Given the description of an element on the screen output the (x, y) to click on. 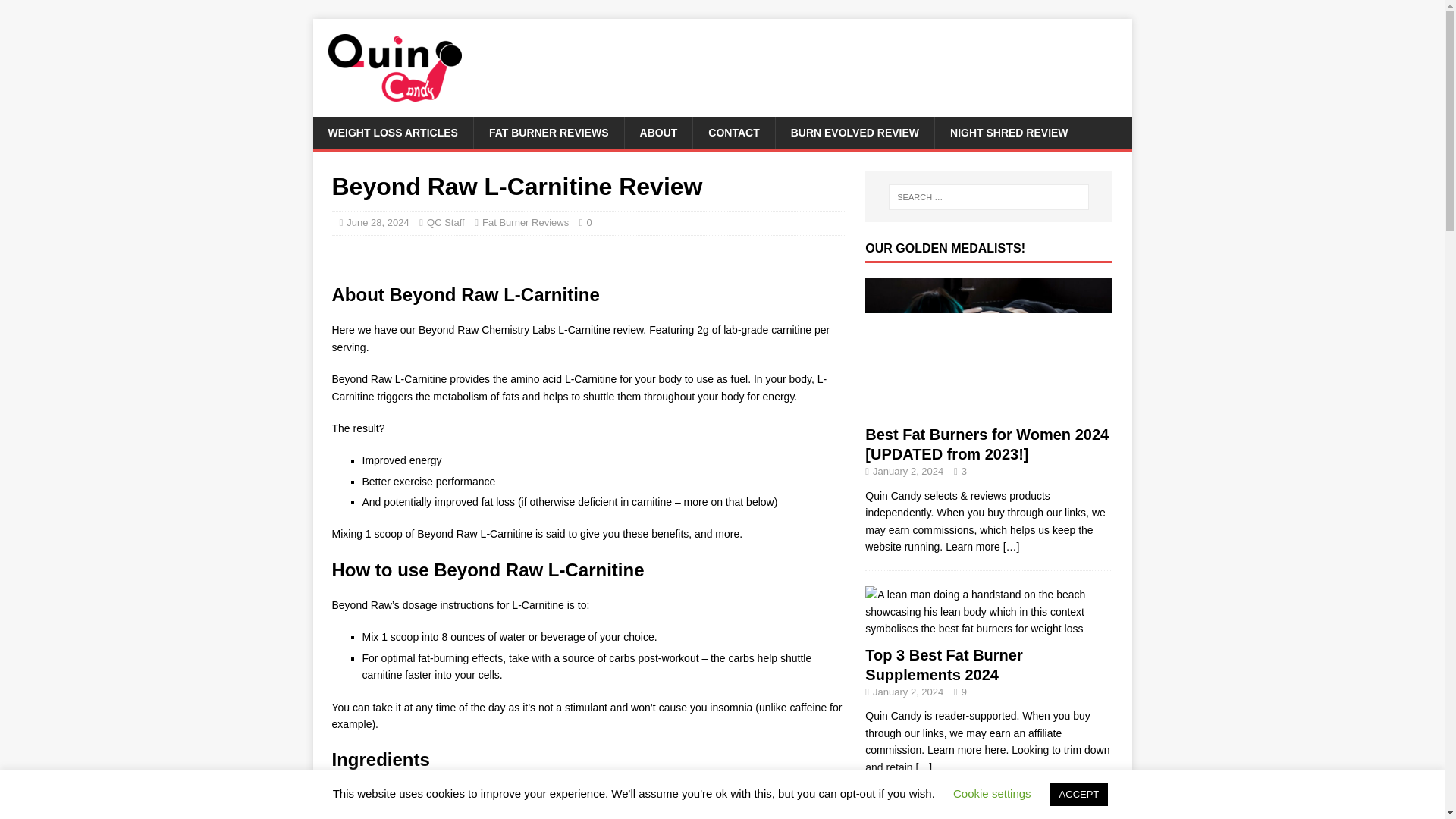
Fat Burner Reviews (525, 222)
Top 3 Best Fat Burner Supplements 2024 (943, 665)
ABOUT (658, 132)
June 28, 2024 (377, 222)
BURN EVOLVED REVIEW (854, 132)
WEIGHT LOSS ARTICLES (392, 132)
NIGHT SHRED REVIEW (1008, 132)
FAT BURNER REVIEWS (548, 132)
Top 3 Best Fat Burner Supplements 2024 (923, 767)
Top 3 Best Fat Burner Supplements 2024 (988, 628)
